Given the description of an element on the screen output the (x, y) to click on. 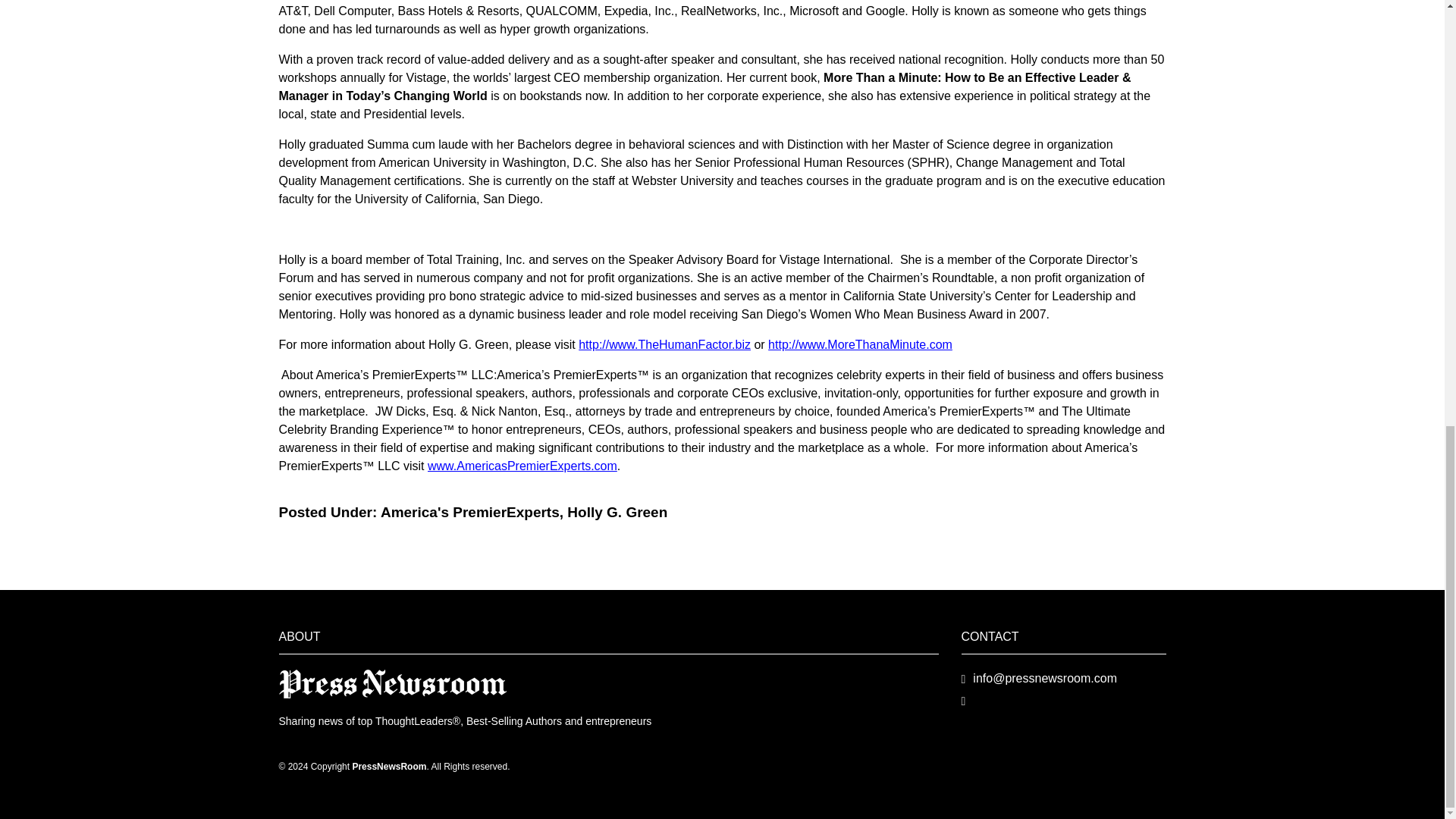
Holly G. Green (616, 512)
America's PremierExperts (469, 512)
www.AmericasPremierExperts.com (522, 465)
PressNewsRoom (392, 682)
